Given the description of an element on the screen output the (x, y) to click on. 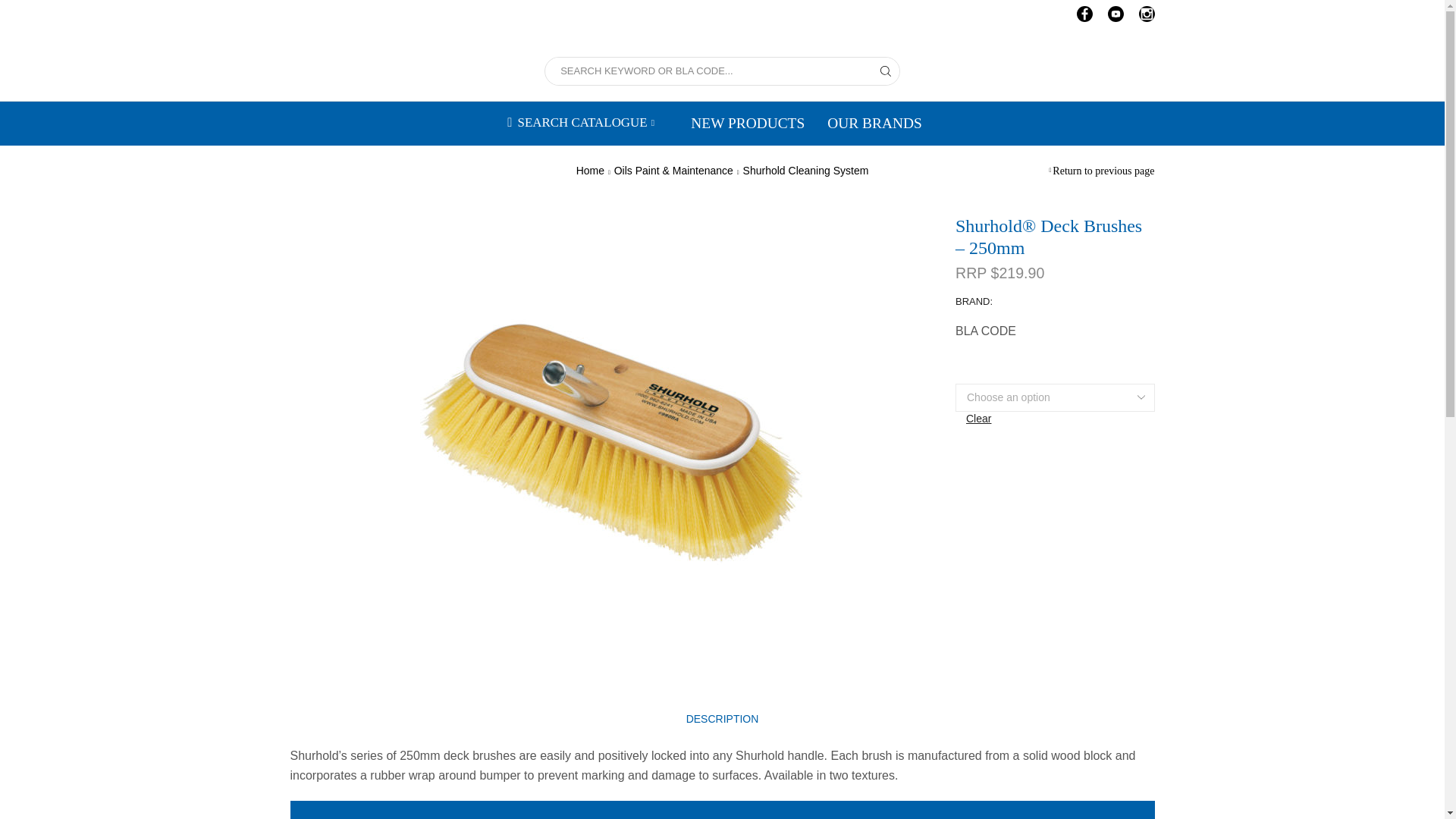
NEW PRODUCTS (747, 123)
OUR BRANDS (874, 123)
